Given the description of an element on the screen output the (x, y) to click on. 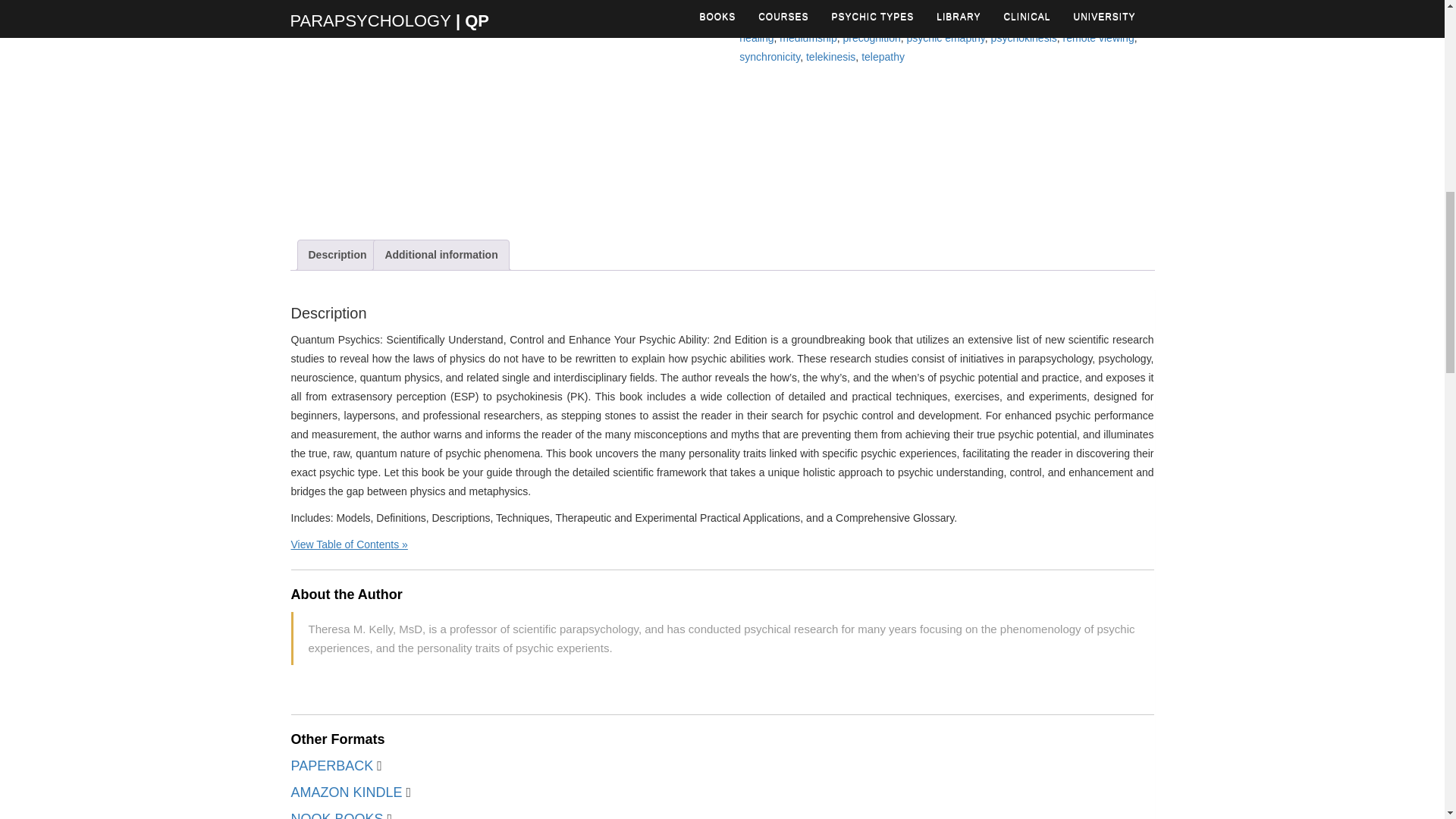
biokinesis (1011, 19)
precognition (872, 37)
remote viewing (1098, 37)
Digital Books (927, 19)
psychic emapthy (946, 37)
mediumship (806, 37)
clairvoyance (1071, 19)
psychokinesis (1024, 37)
synchronicity (769, 56)
telekinesis (831, 56)
energy healing (938, 28)
